Given the description of an element on the screen output the (x, y) to click on. 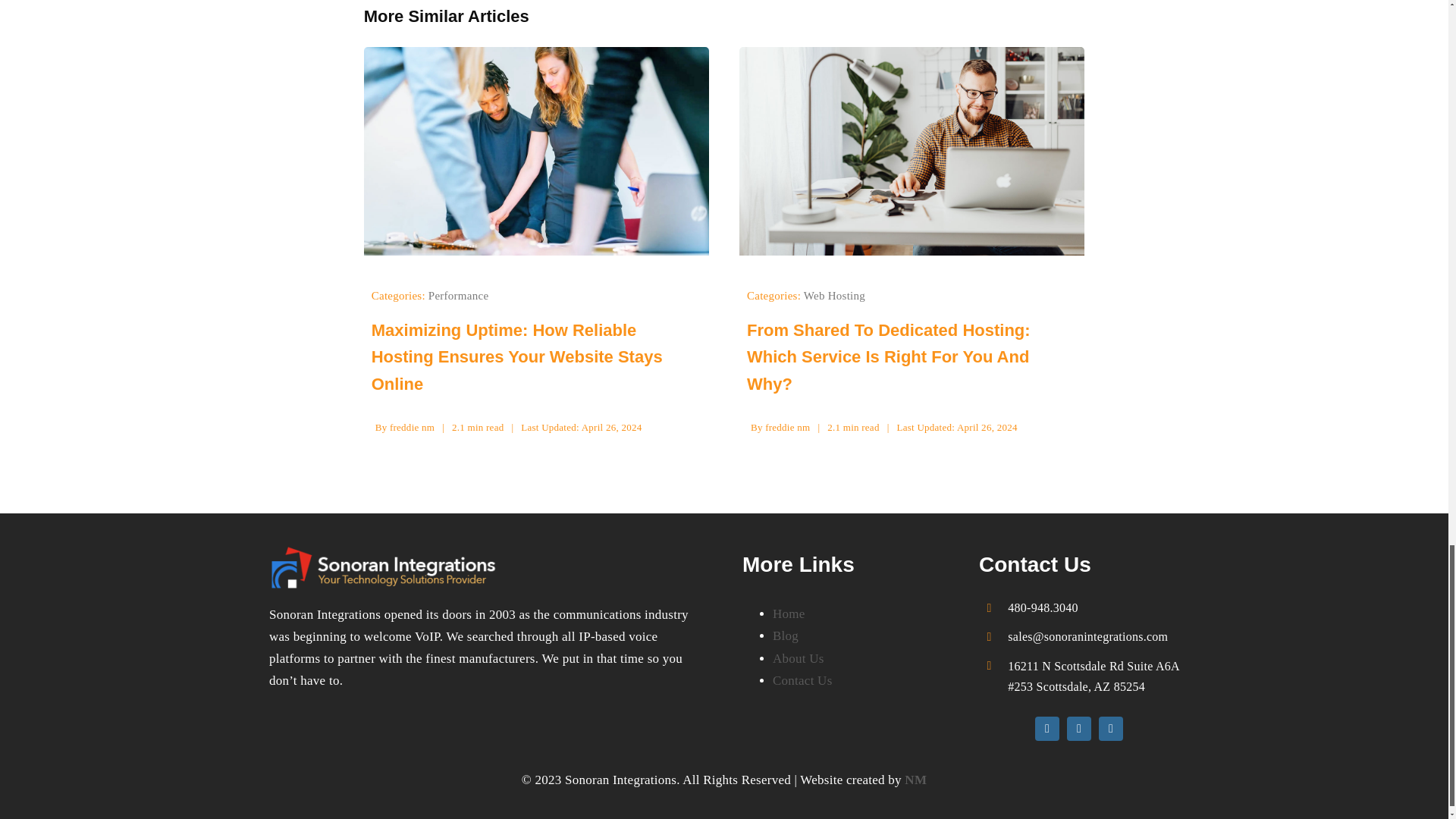
Twitter (1078, 728)
Posts by freddie nm (787, 427)
Facebook (1047, 728)
Posts by freddie nm (411, 427)
LinkedIn (1110, 728)
